Given the description of an element on the screen output the (x, y) to click on. 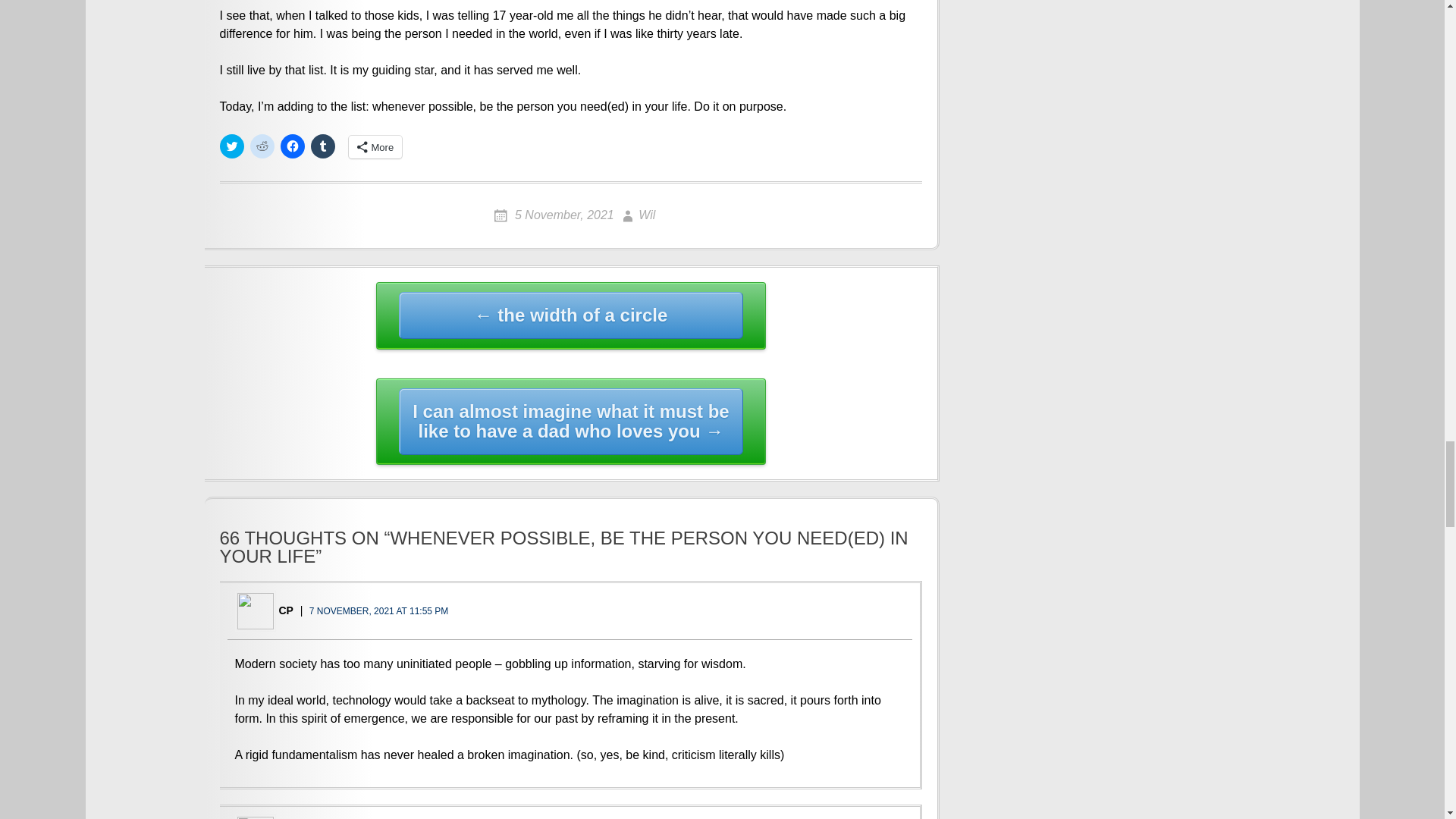
7 NOVEMBER, 2021 AT 11:55 PM (378, 611)
5 November, 2021 (553, 214)
Click to share on Tumblr (322, 146)
5 November, 2021 (553, 214)
Click to share on Reddit (262, 146)
Click to share on Facebook (292, 146)
Click to share on Twitter (231, 146)
Wil (636, 214)
Wil (636, 214)
More (376, 146)
